Given the description of an element on the screen output the (x, y) to click on. 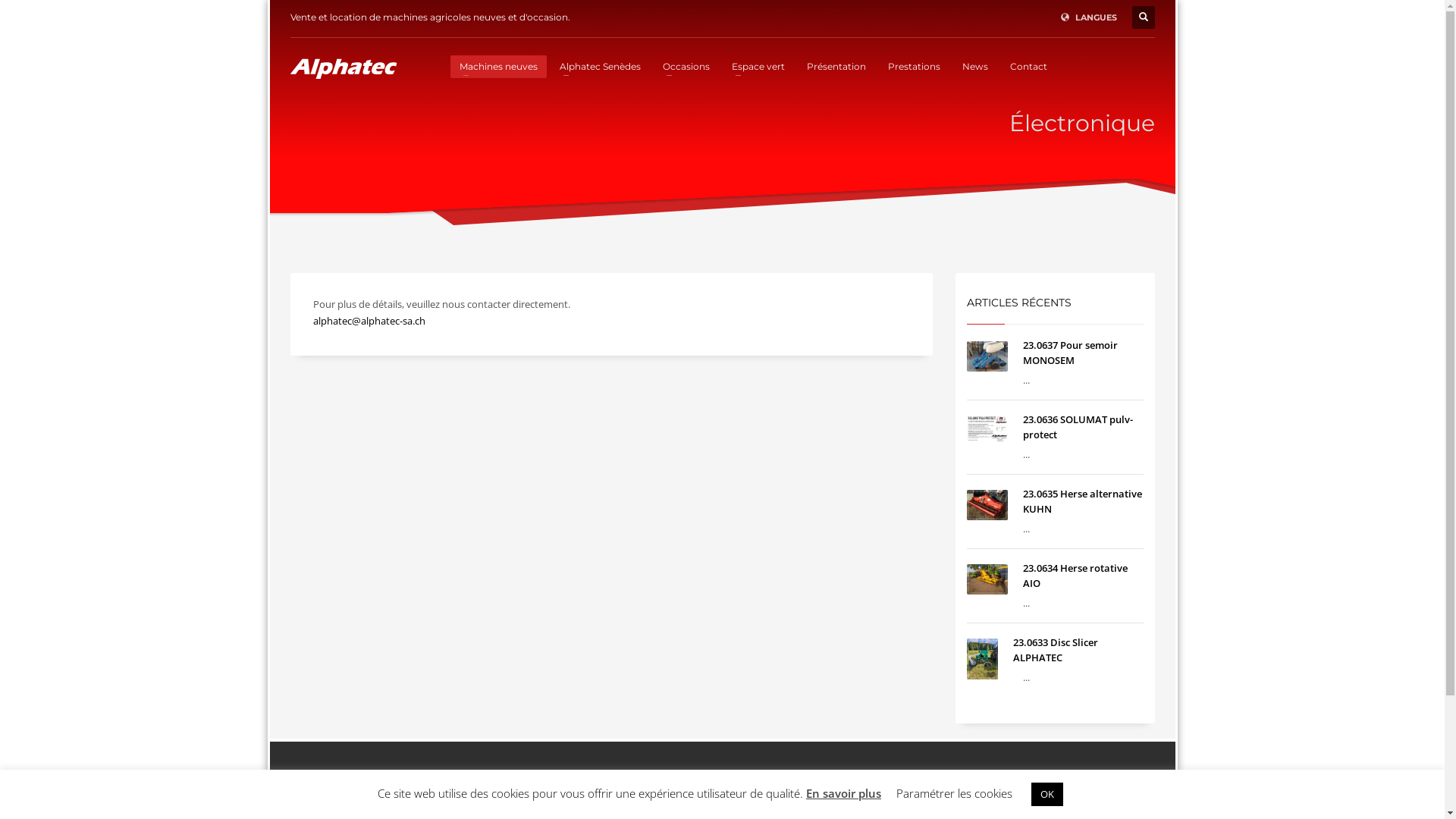
LANGUES Element type: text (1088, 17)
23.0636 SOLUMAT pulv-protect Element type: text (1077, 426)
23.0633 Disc Slicer ALPHATEC Element type: text (1055, 649)
Espace vert Element type: text (757, 65)
En savoir plus Element type: text (843, 792)
OK Element type: text (1047, 794)
Machines neuves Element type: text (498, 65)
23.0637 Pour semoir MONOSEM Element type: text (1069, 352)
Prestations Element type: text (913, 65)
23.0634 Herse rotative AIO Element type: text (1074, 575)
Machines neuves Element type: text (894, 795)
Contact Element type: text (1028, 65)
23.0635 Herse alternative KUHN Element type: text (1082, 500)
News Element type: text (974, 65)
Occasions Element type: text (685, 65)
alphatec@alphatec-sa.ch Element type: text (567, 795)
alphatec@alphatec-sa.ch Element type: text (368, 320)
